Given the description of an element on the screen output the (x, y) to click on. 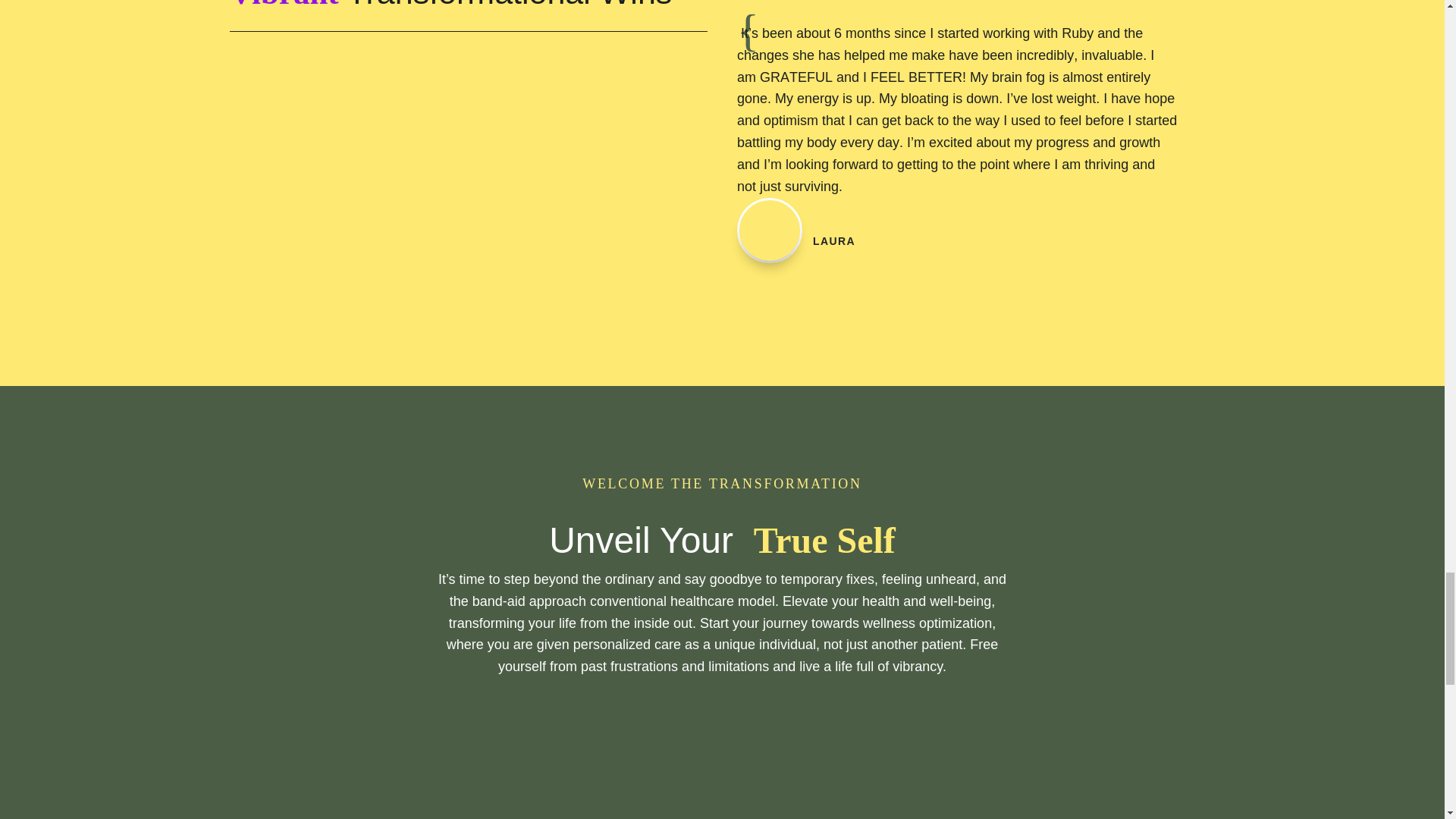
Work with Ruby (721, 763)
